Given the description of an element on the screen output the (x, y) to click on. 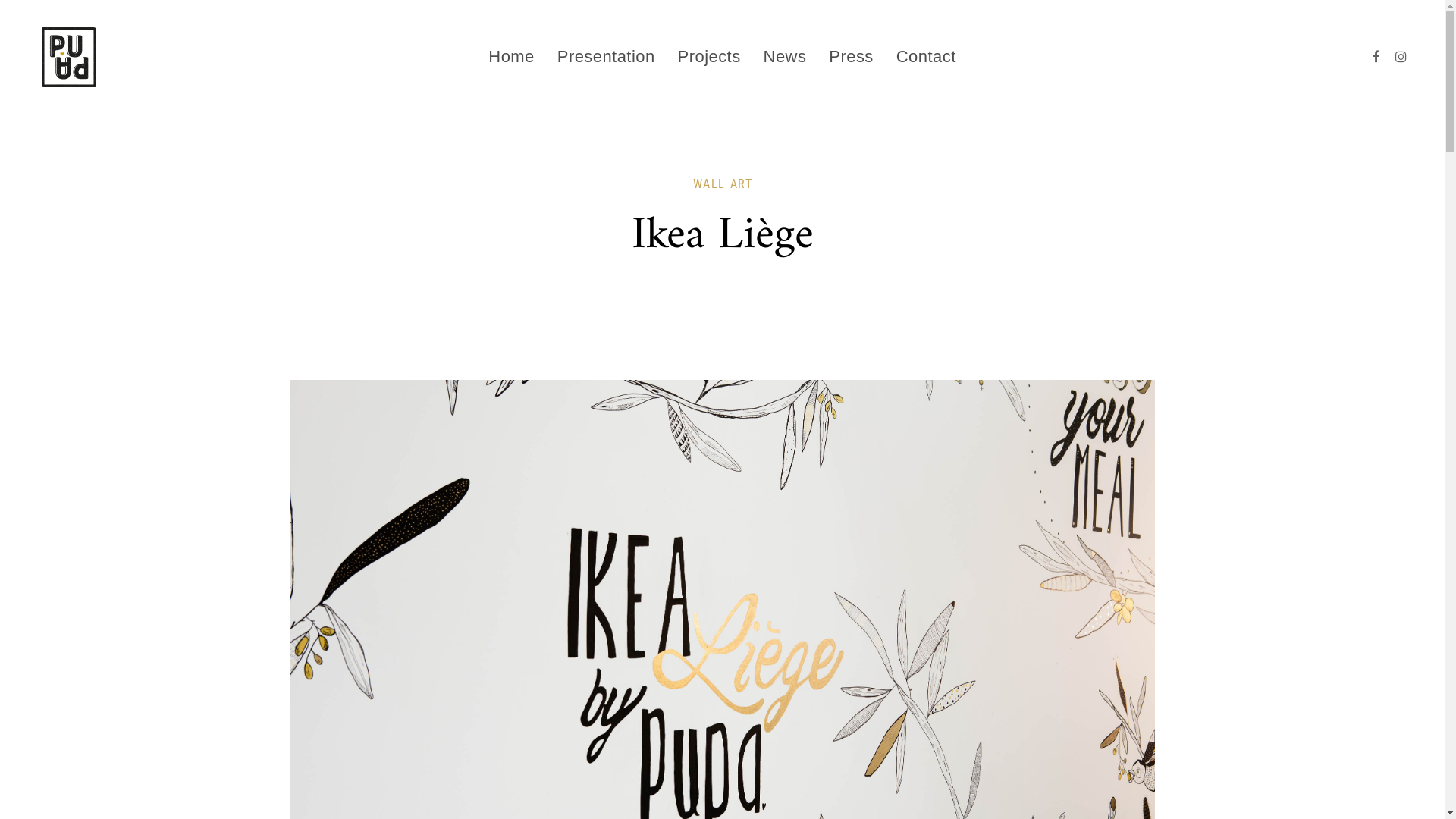
Press Element type: text (850, 56)
Projects Element type: text (709, 56)
Presentation Element type: text (606, 56)
Contact Element type: text (925, 56)
Home Element type: text (510, 56)
News Element type: text (785, 56)
